Given the description of an element on the screen output the (x, y) to click on. 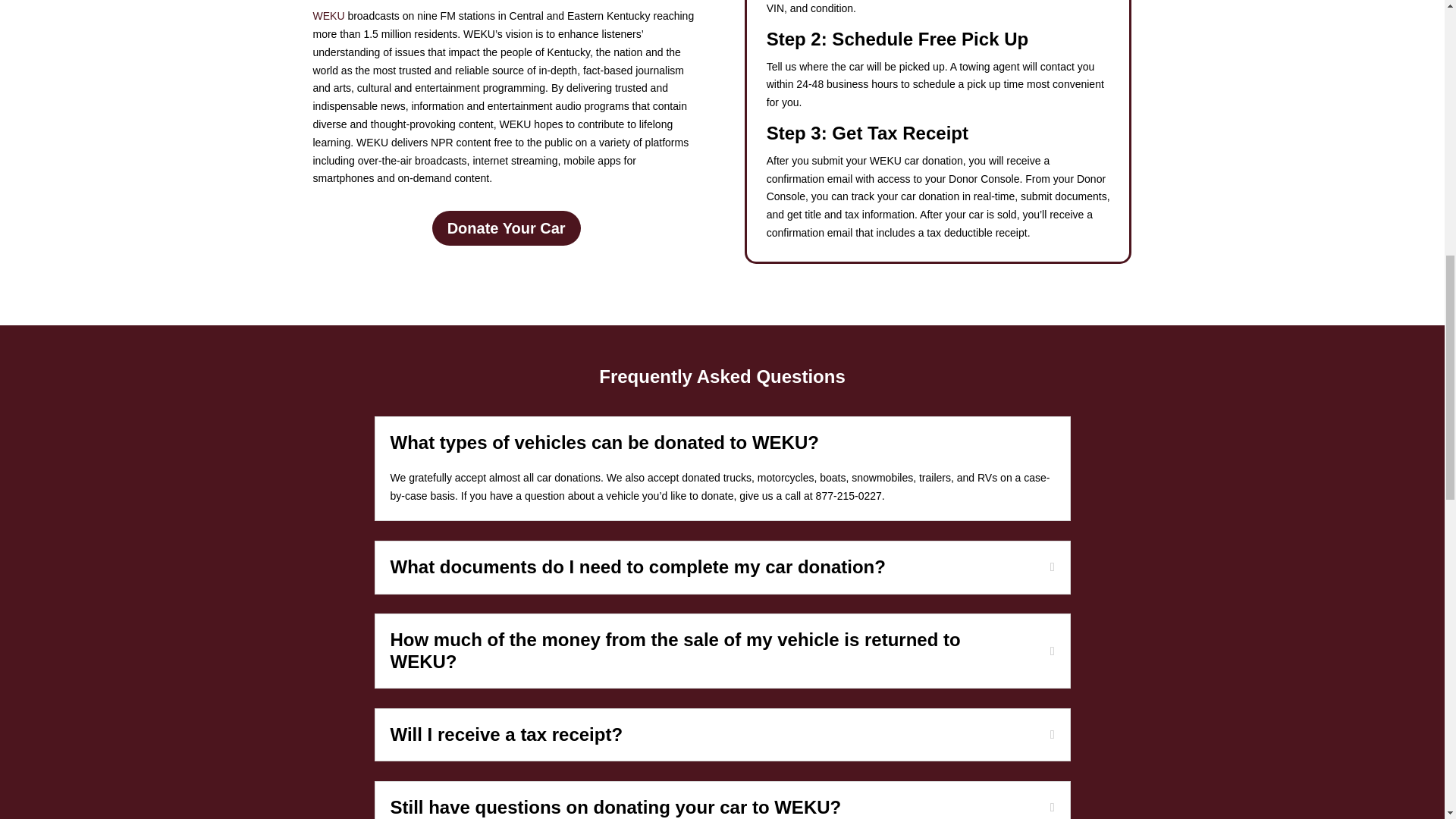
Donate Your Car (506, 227)
WEKU (328, 15)
